Given the description of an element on the screen output the (x, y) to click on. 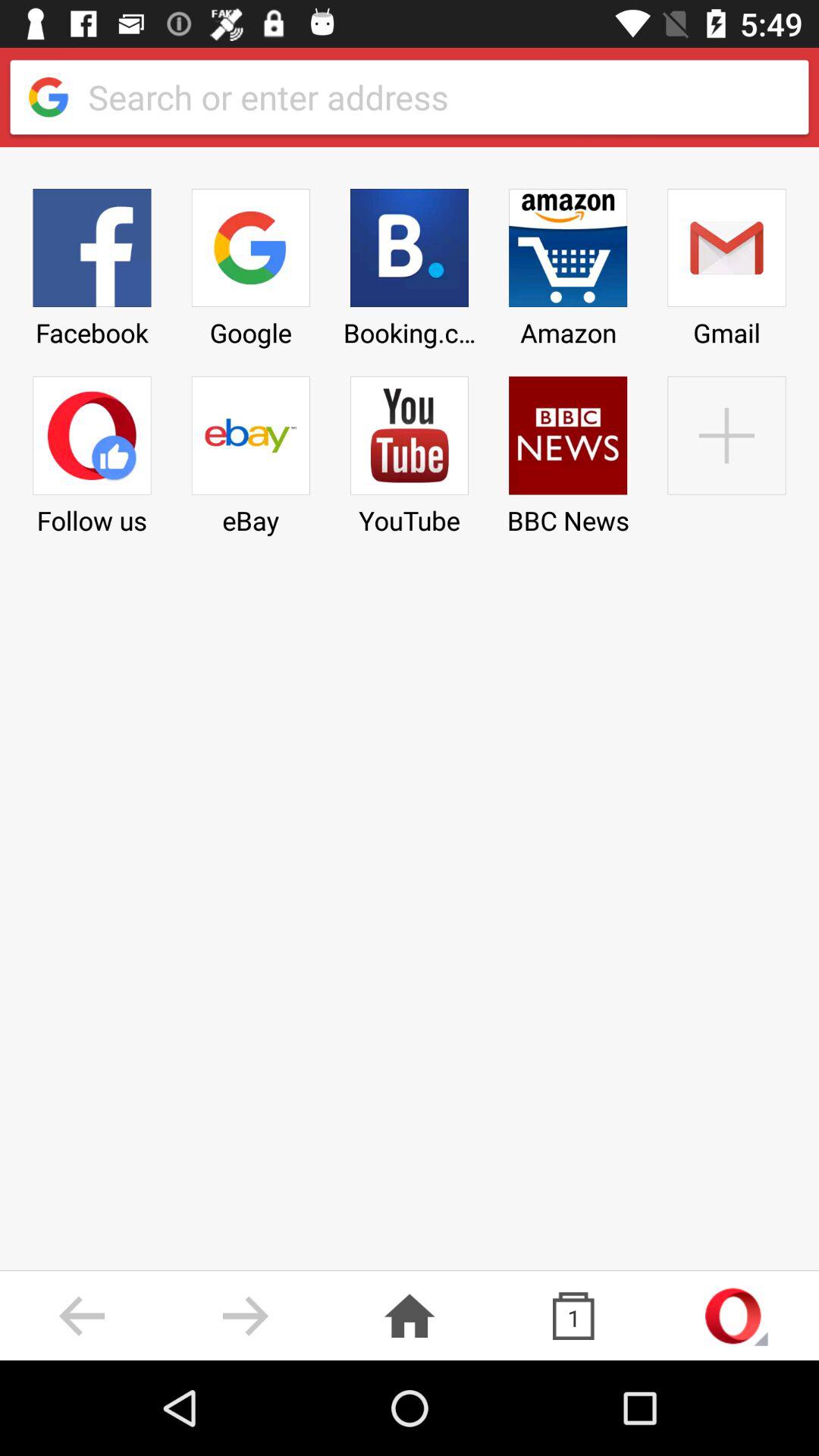
tap icon to the left of the booking.com icon (250, 262)
